Given the description of an element on the screen output the (x, y) to click on. 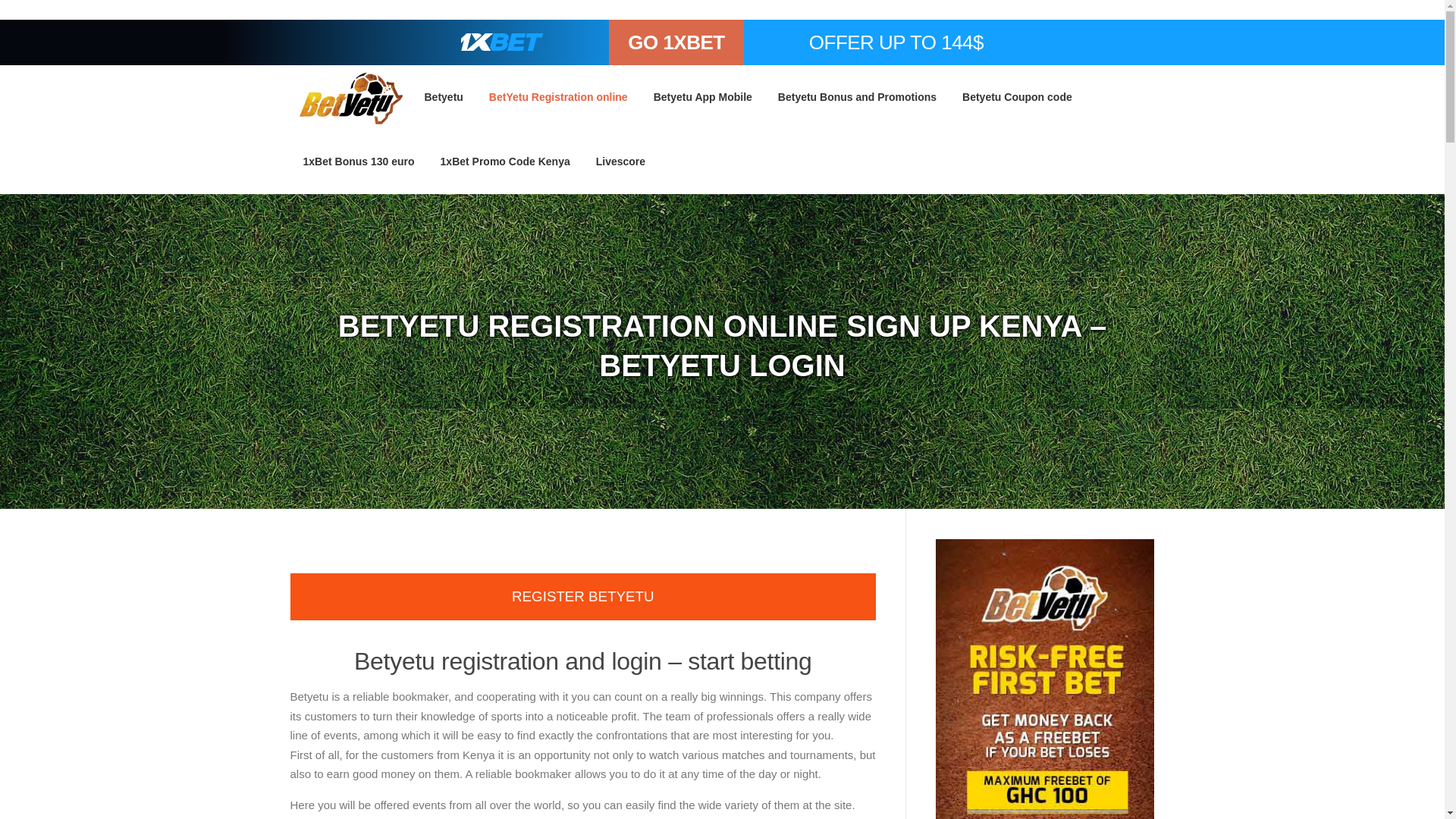
REGISTER BETYETU (582, 596)
Betyetu (443, 97)
Betyetu App Mobile (702, 97)
Skip to content (37, 75)
1xBet Bonus 130 euro (357, 160)
Betyetu Coupon code (1016, 97)
Livescore (614, 160)
BetYetu Registration online (558, 97)
Betyetu Bonus and Promotions (857, 97)
1xBet Promo Code Kenya (505, 160)
